Given the description of an element on the screen output the (x, y) to click on. 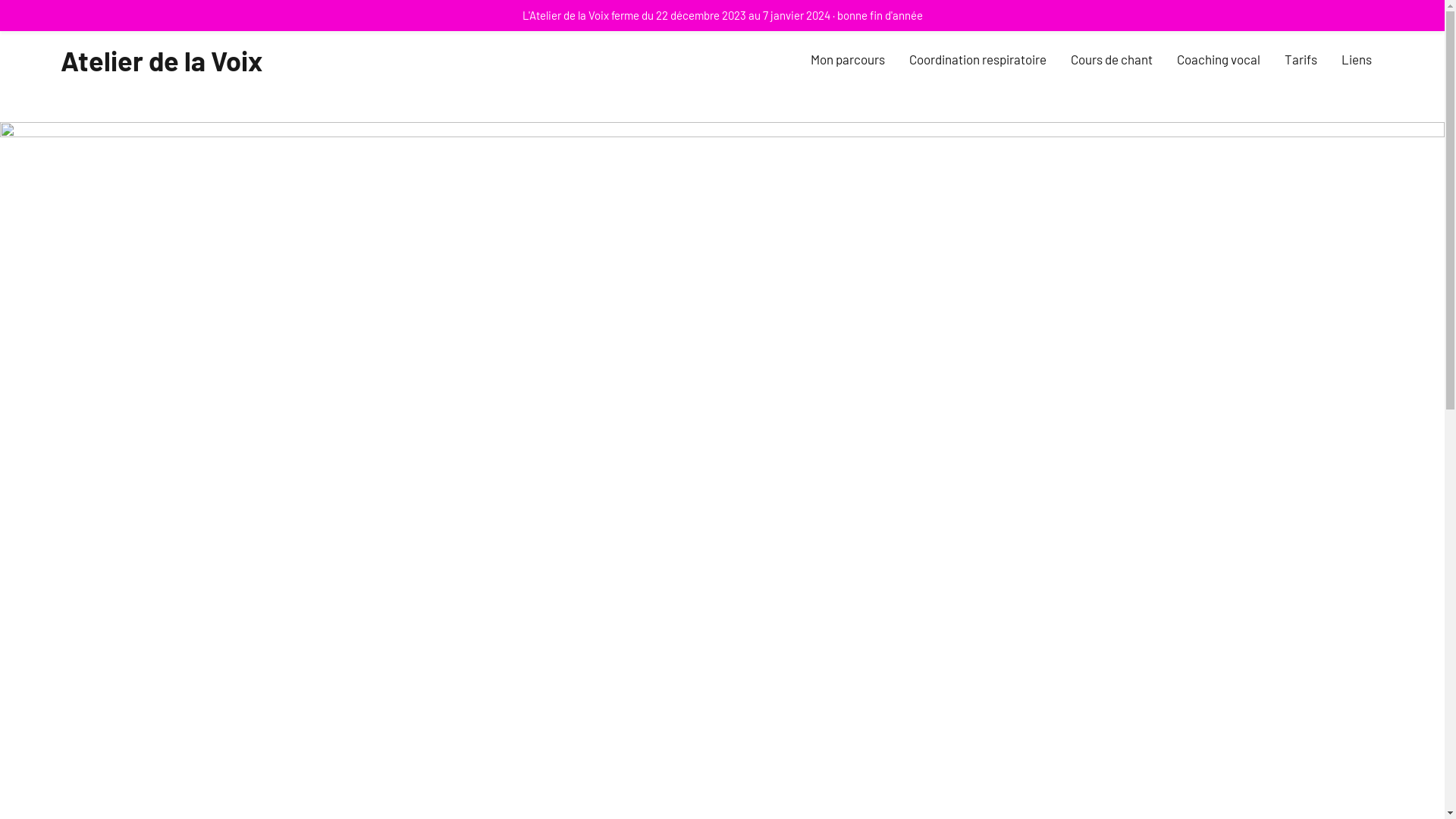
Mon parcours Element type: text (847, 60)
Coaching vocal Element type: text (1218, 60)
Atelier de la Voix Element type: text (161, 59)
Tarifs Element type: text (1300, 60)
Coordination respiratoire Element type: text (977, 60)
Cours de chant Element type: text (1111, 60)
Liens Element type: text (1356, 60)
